Given the description of an element on the screen output the (x, y) to click on. 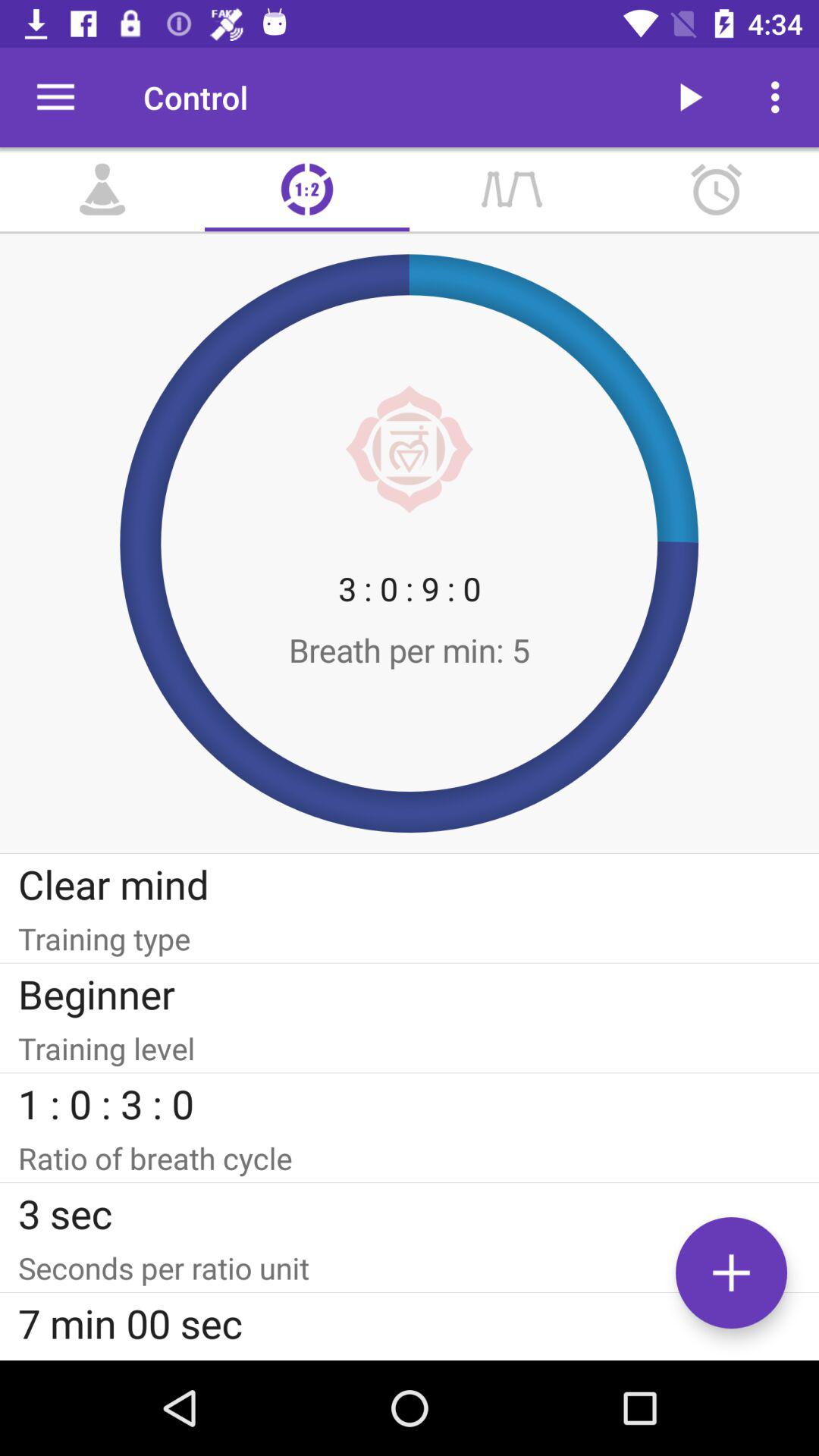
flip until the 1 0 3 (409, 1103)
